Given the description of an element on the screen output the (x, y) to click on. 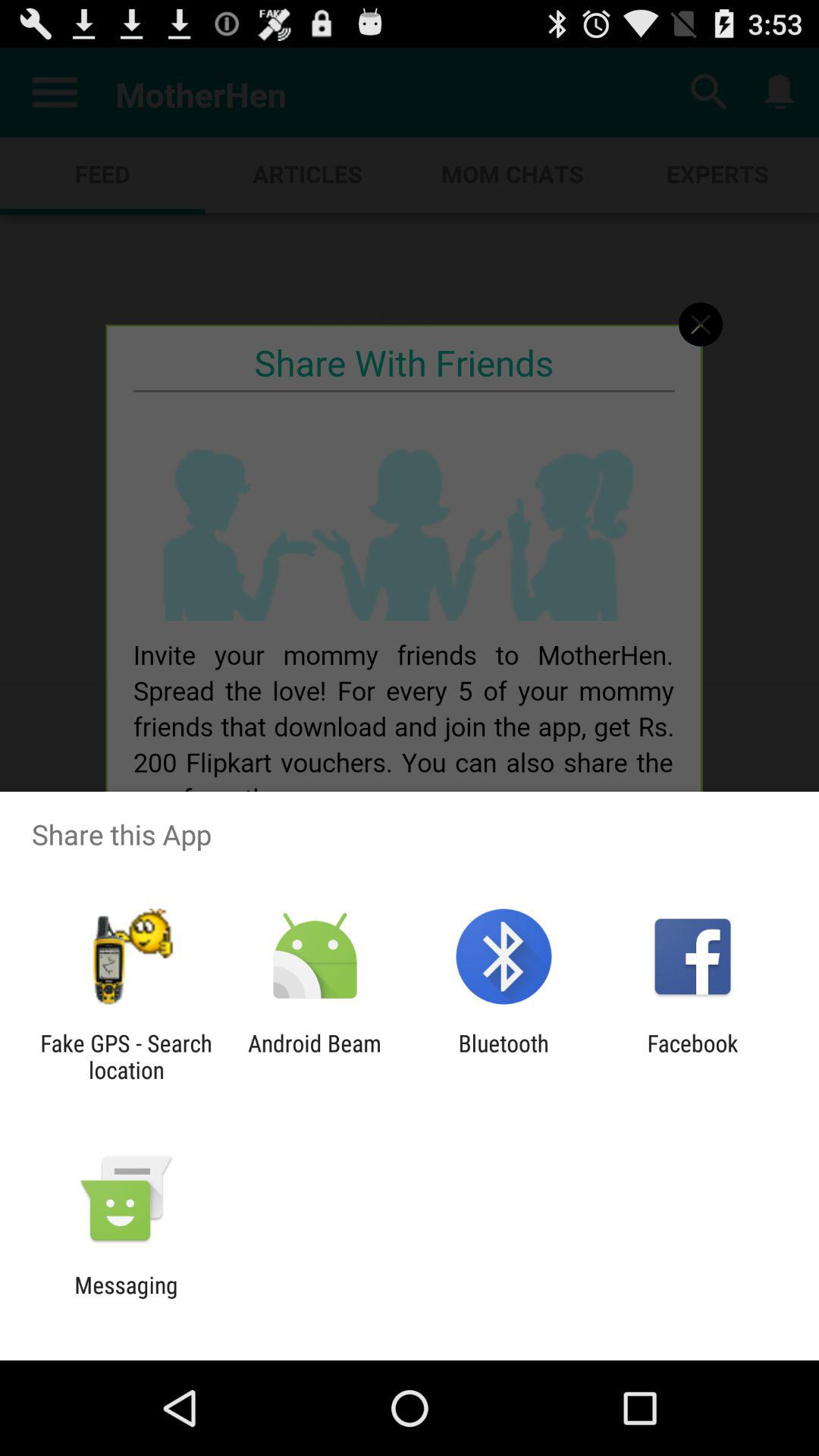
choose app next to android beam item (125, 1056)
